Given the description of an element on the screen output the (x, y) to click on. 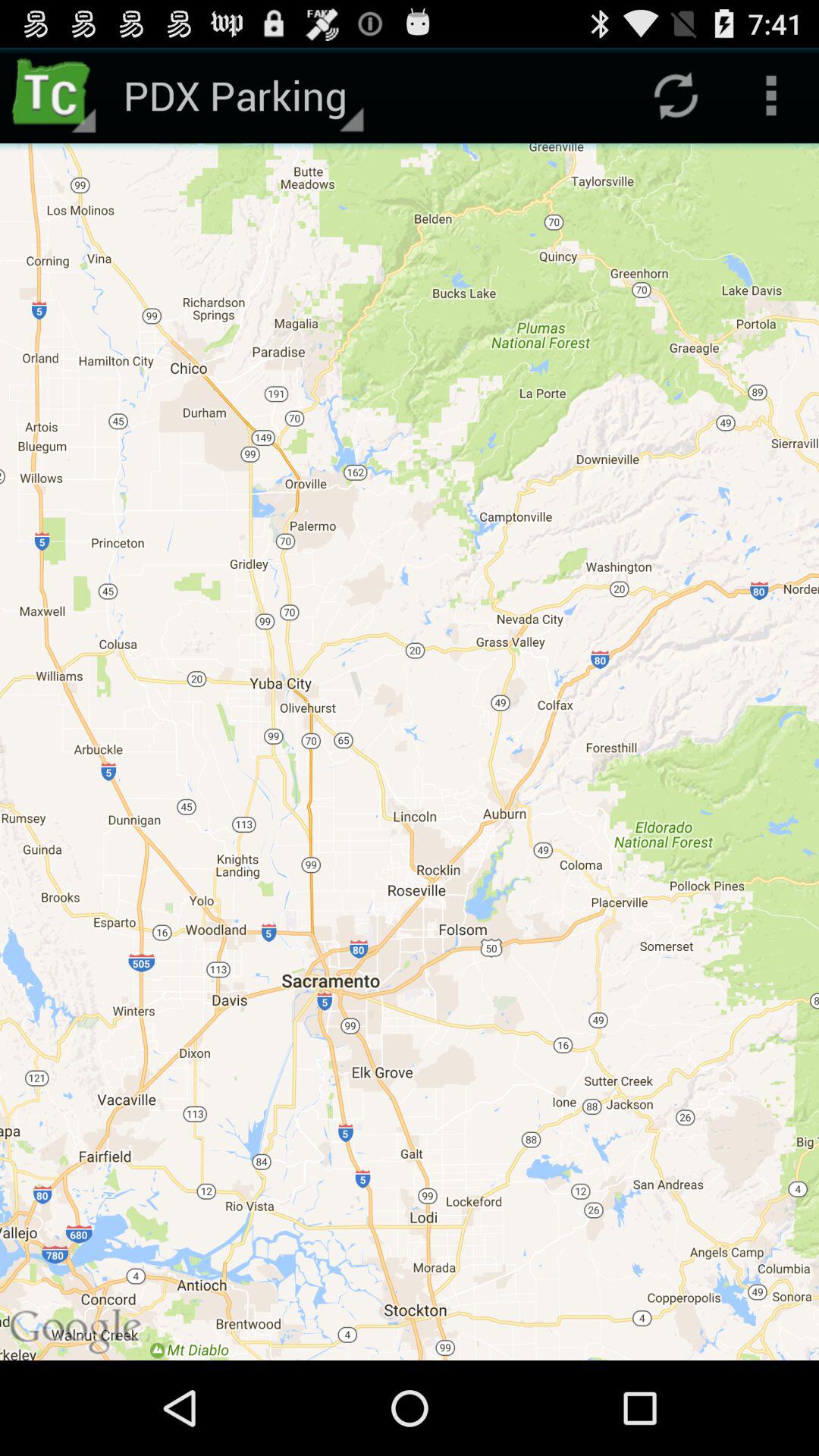
select app next to pdx parking icon (55, 95)
